Given the description of an element on the screen output the (x, y) to click on. 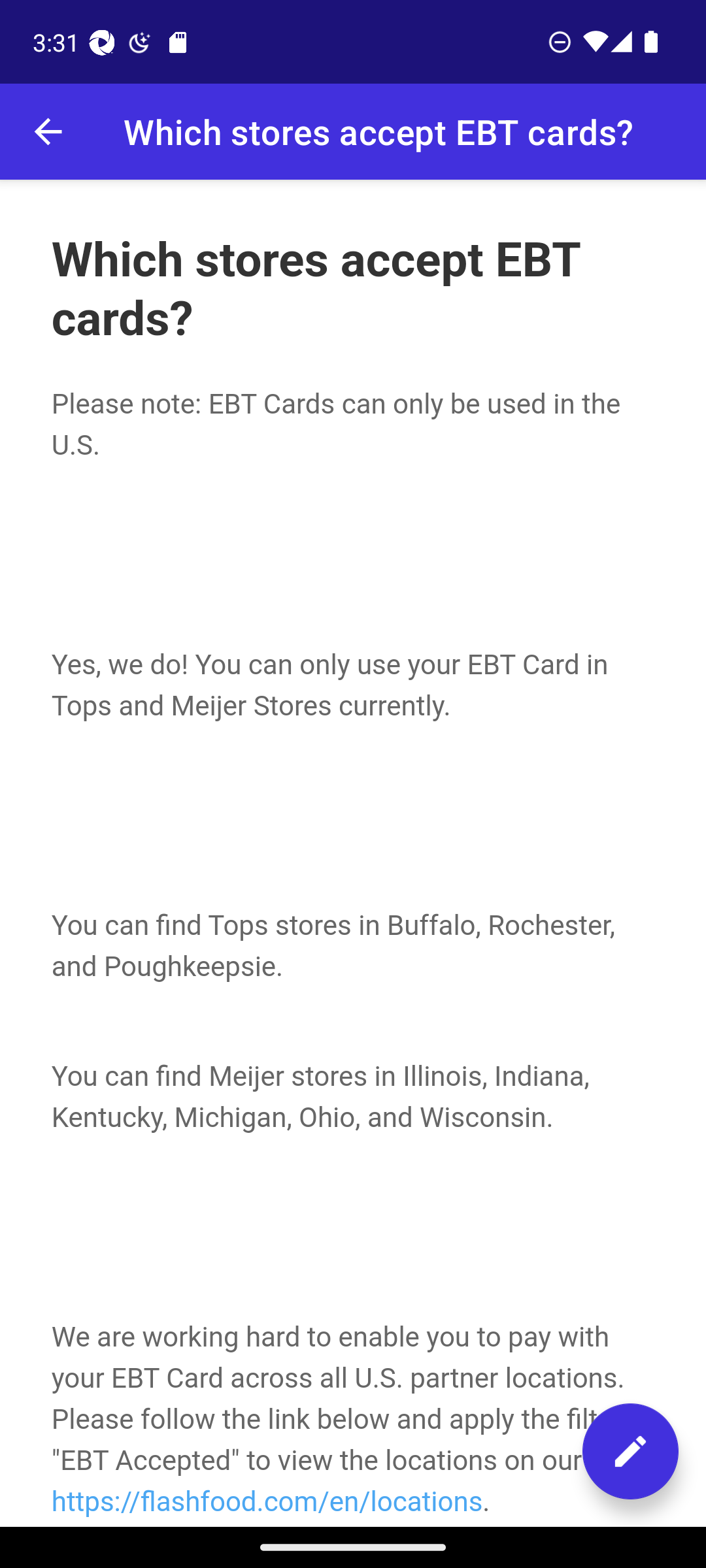
Navigate up (48, 131)
Contact us (630, 1451)
https://flashfood.com/en/locations (266, 1501)
